Given the description of an element on the screen output the (x, y) to click on. 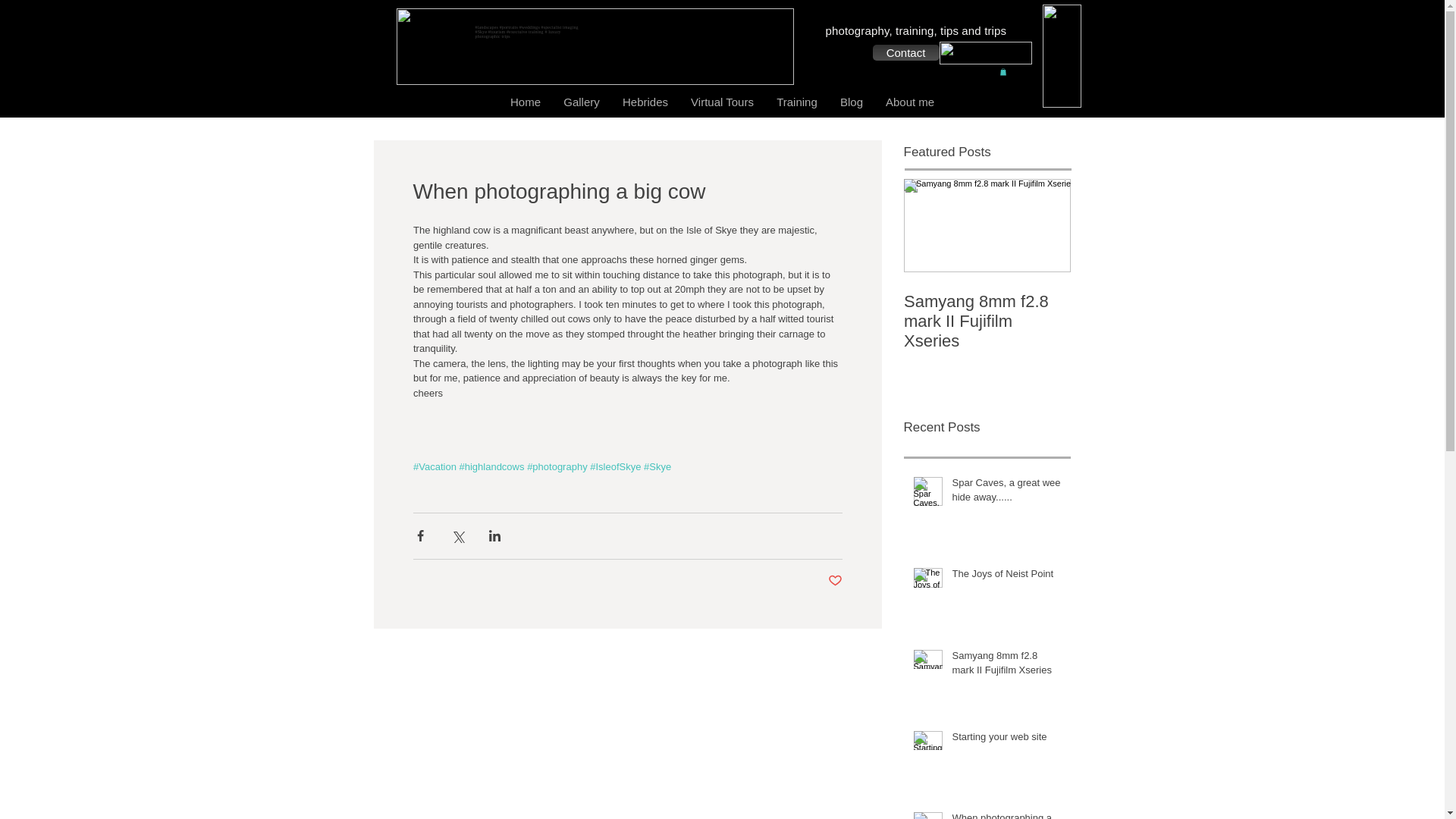
Starting your web site (1006, 740)
Samyang 8mm f2.8 mark II Fujifilm Xseries (987, 321)
Blog (851, 102)
Post not marked as liked (835, 580)
Contact (905, 52)
Training (796, 102)
Home (525, 102)
Spar Caves, a great wee hide away...... (1006, 492)
Samyang 8mm f2.8 mark II Fujifilm Xseries (1006, 665)
The Joys of Neist Point (1006, 577)
